Given the description of an element on the screen output the (x, y) to click on. 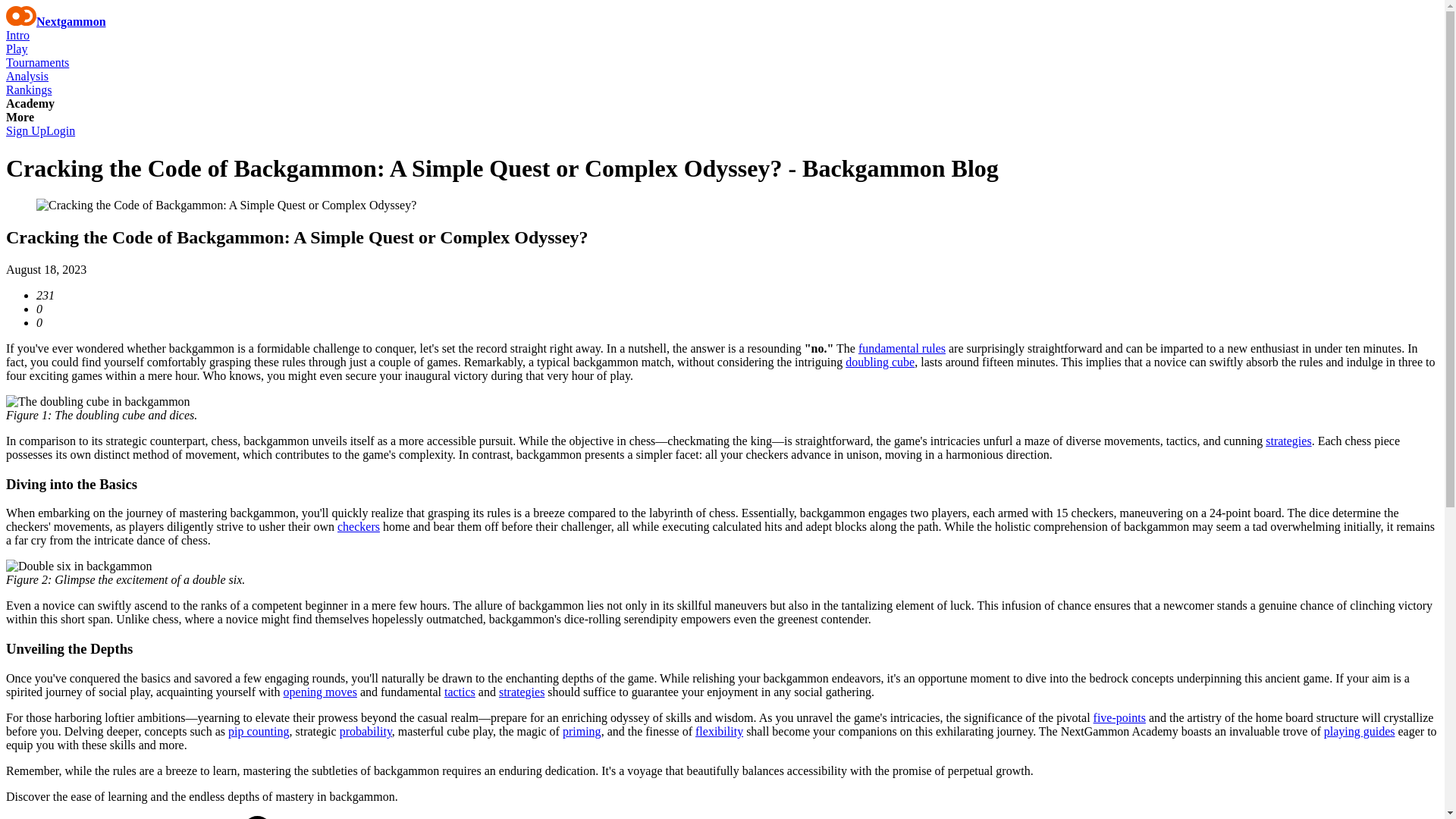
Login (60, 130)
Nextgammon (55, 21)
five-points (1119, 717)
playing guides (1358, 730)
Sign Up (25, 130)
Intro (17, 34)
Sign Up (25, 130)
strategies (1288, 440)
checkers (358, 526)
Play (16, 48)
fundamental rules (901, 348)
flexibility (718, 730)
18:38 2023-08-18 (45, 269)
probability (365, 730)
